Given the description of an element on the screen output the (x, y) to click on. 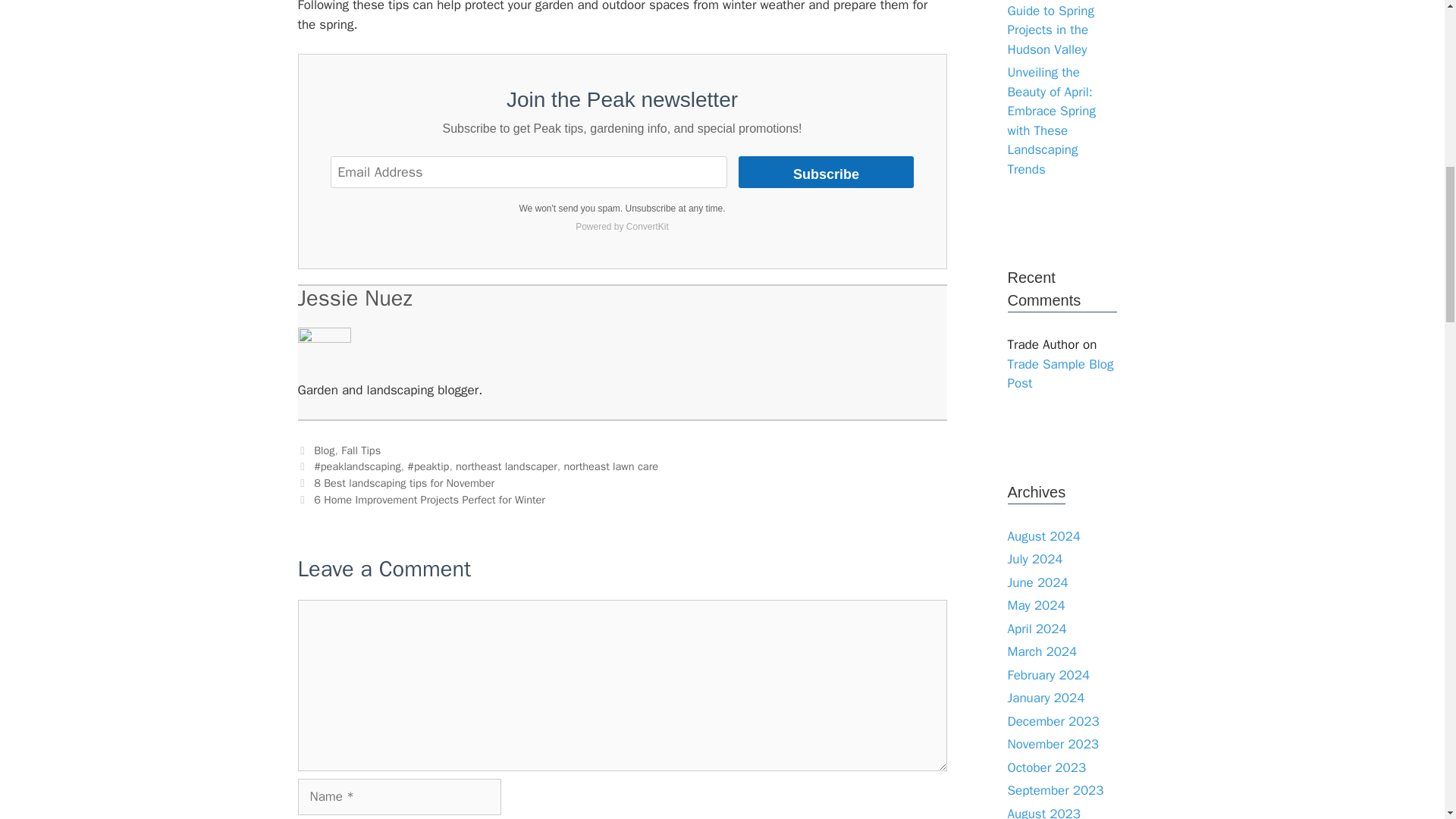
Jessie Nuez (354, 298)
Scroll back to top (1406, 720)
Blog (324, 450)
Subscribe (826, 172)
All posts by Jessie Nuez (354, 298)
Fall Tips (360, 450)
Powered by ConvertKit (622, 226)
